Given the description of an element on the screen output the (x, y) to click on. 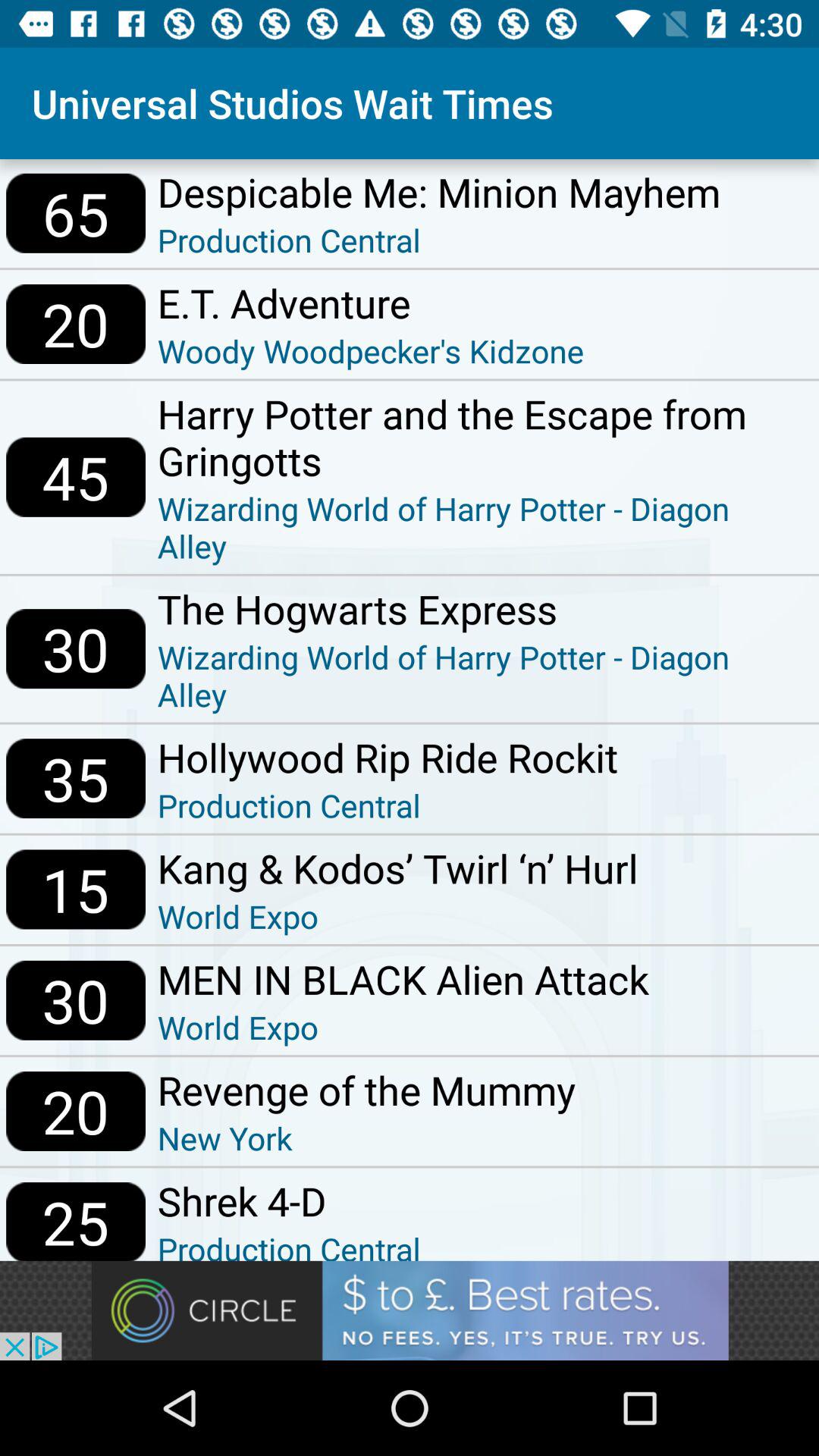
scroll to the 35 item (75, 778)
